Given the description of an element on the screen output the (x, y) to click on. 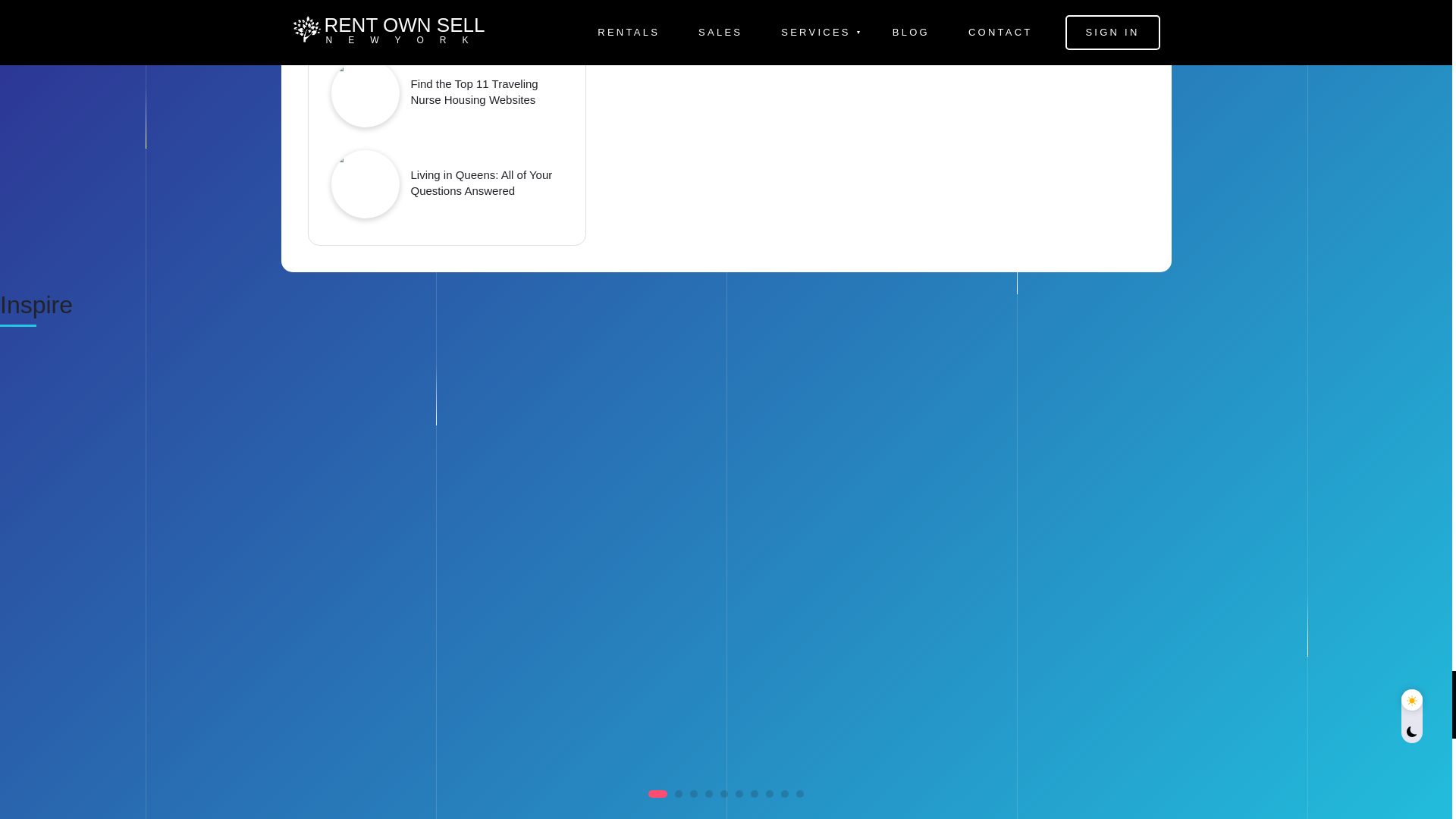
10 Best Real Estate Podcasts (485, 6)
Living in Queens: All of Your Questions Answered (486, 183)
Find the Top 11 Traveling Nurse Housing Websites (486, 91)
